Given the description of an element on the screen output the (x, y) to click on. 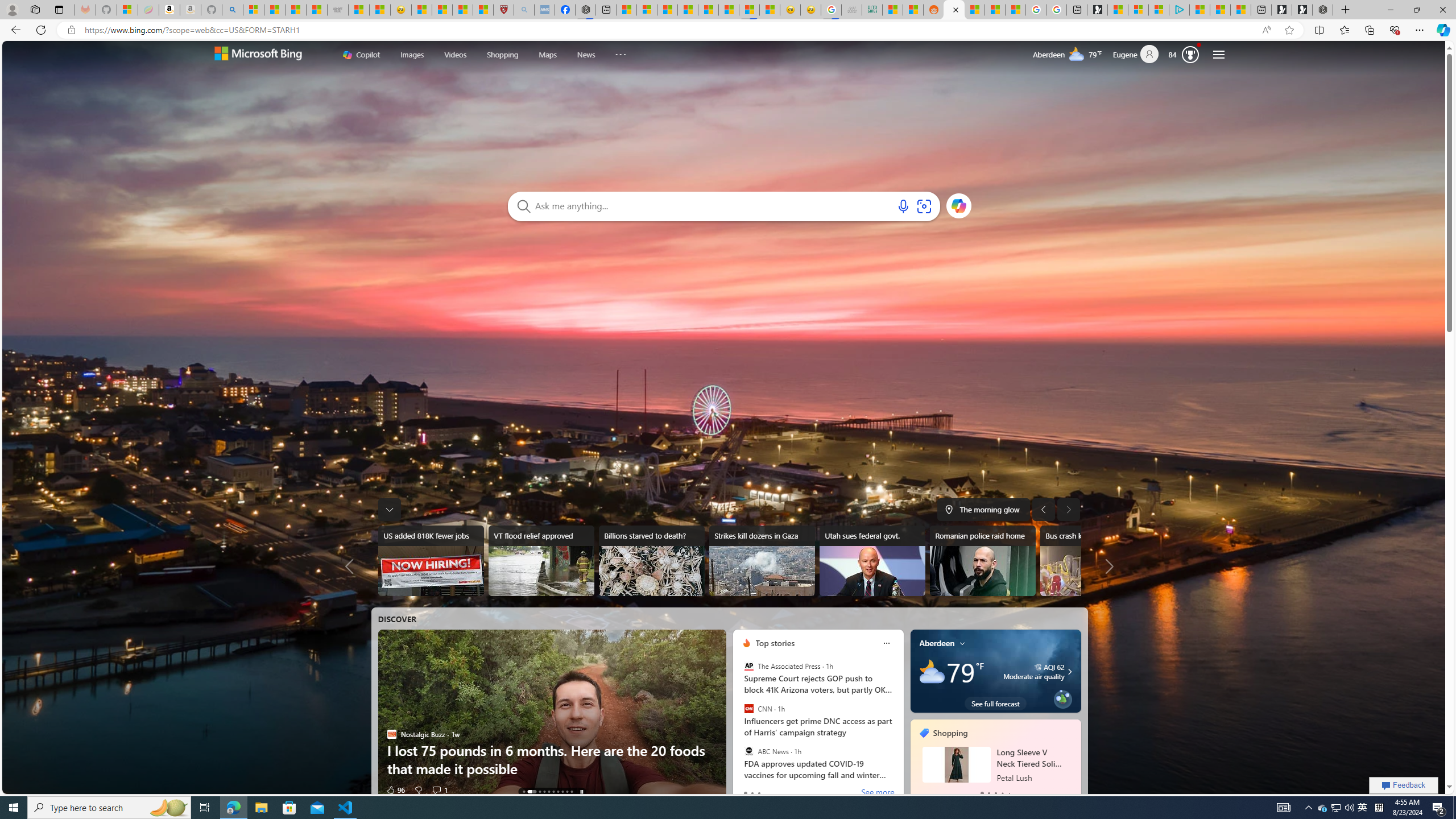
12 Popular Science Lies that Must be Corrected (482, 9)
Moderate air quality (1067, 671)
aqi-icon (1038, 666)
More news (1106, 566)
Maps (547, 53)
US added 818K fewer jobs (430, 560)
More (620, 51)
AutomationID: tab-9 (571, 791)
